Given the description of an element on the screen output the (x, y) to click on. 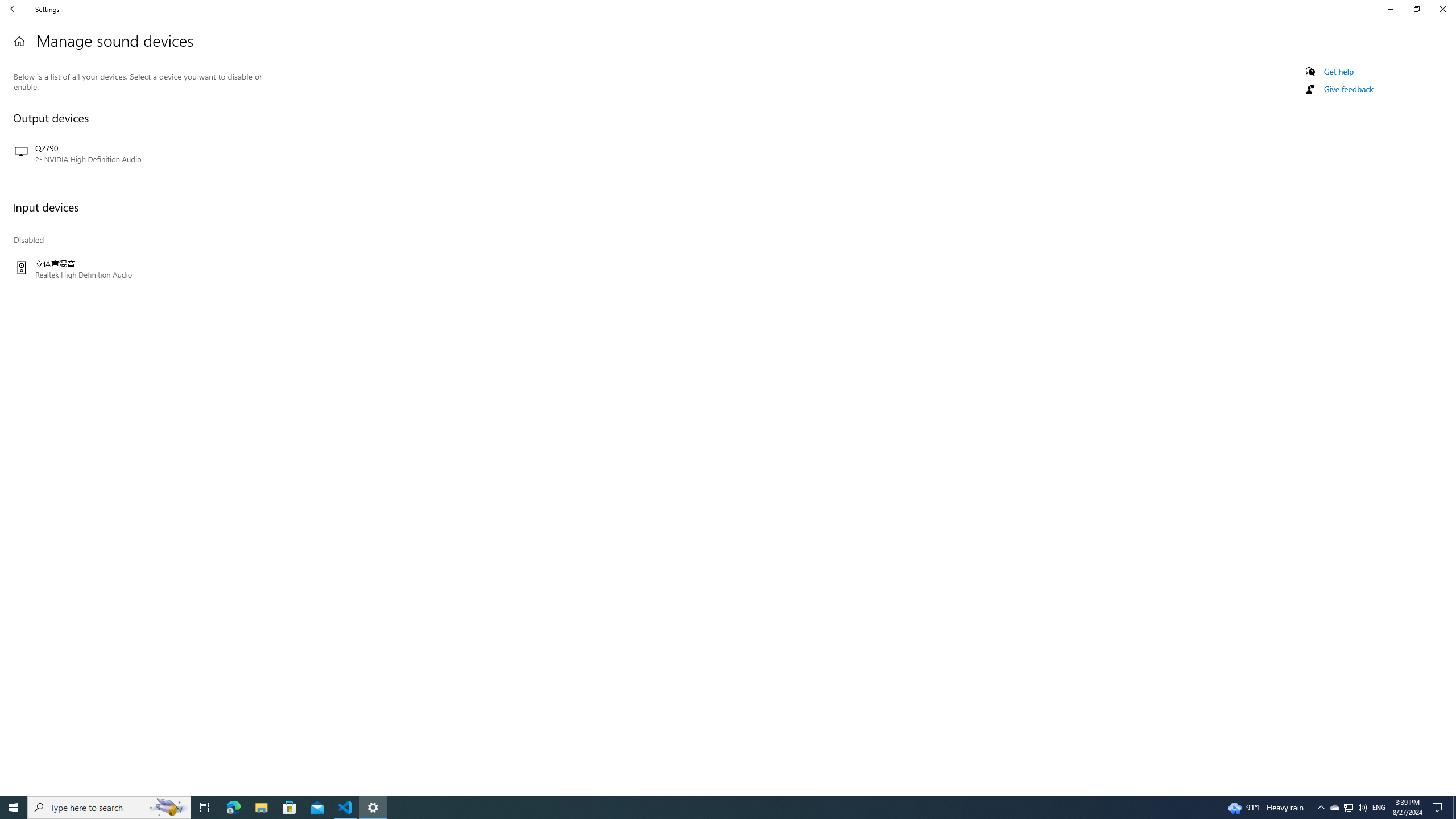
Q2790 2- NVIDIA High Definition Audio (137, 153)
Give feedback (1348, 88)
Restore Settings (1416, 9)
Running applications (706, 807)
